Given the description of an element on the screen output the (x, y) to click on. 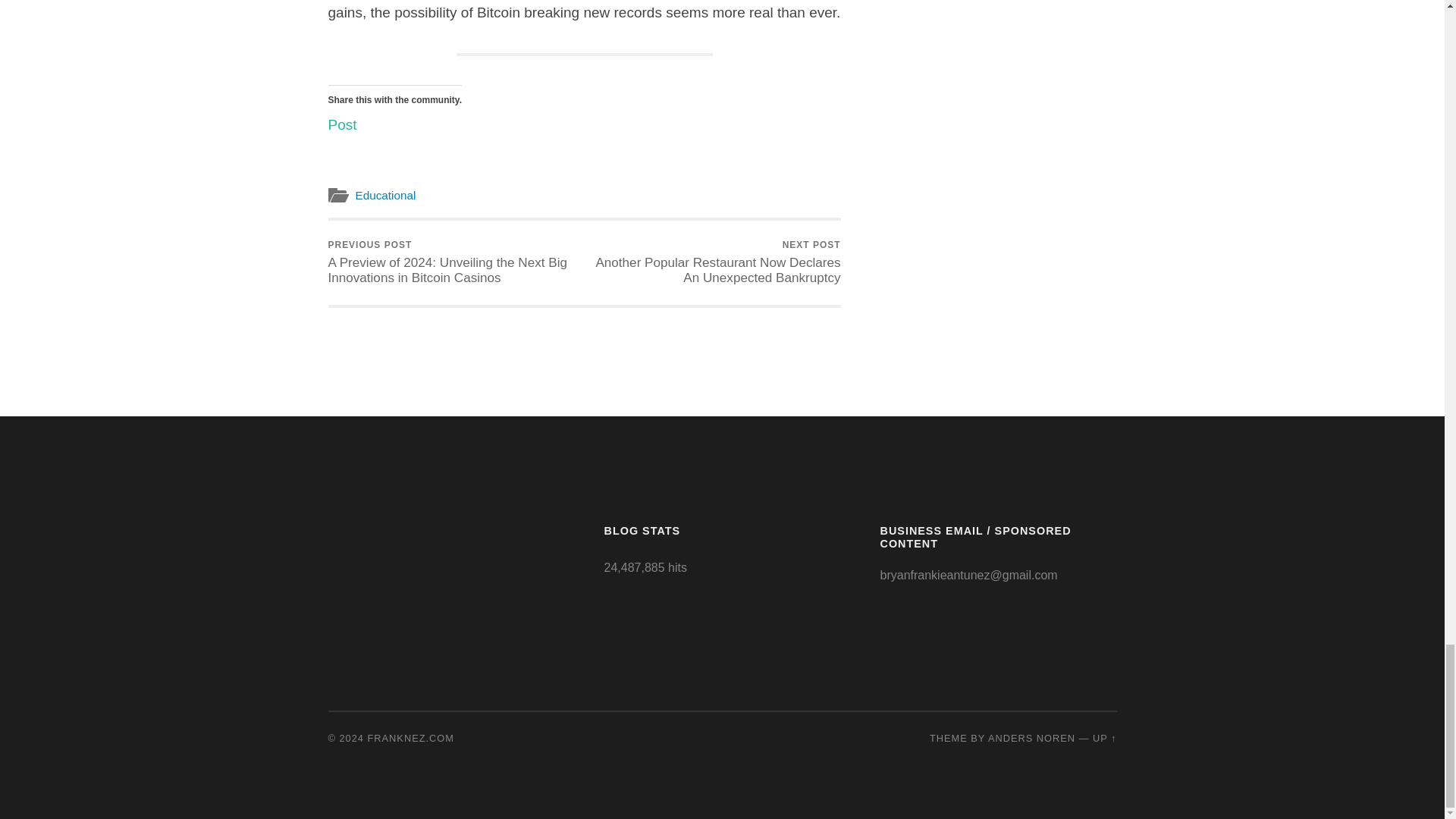
Post (341, 120)
Educational (384, 195)
